Given the description of an element on the screen output the (x, y) to click on. 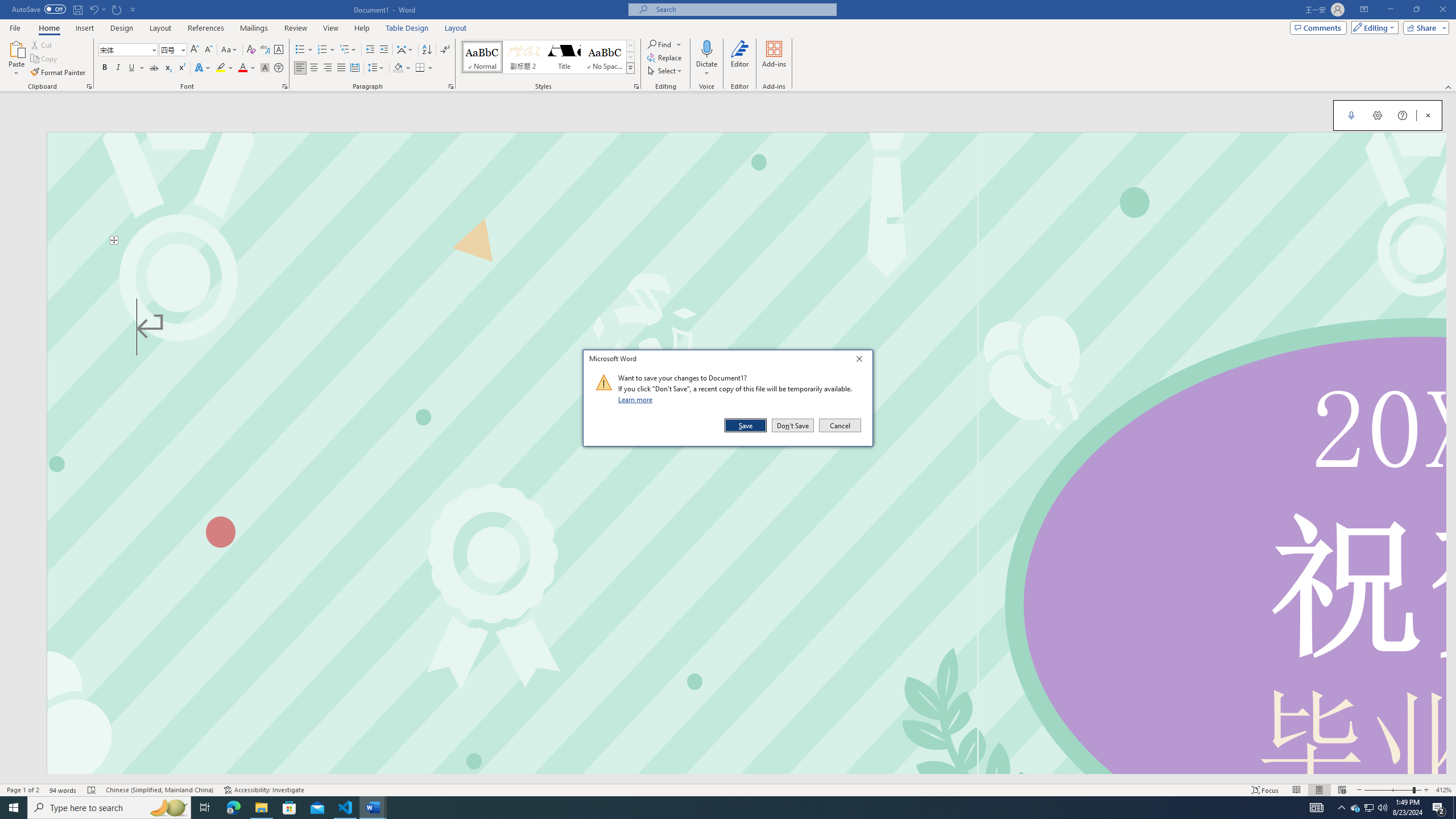
Start Dictation (1350, 115)
Undo Text Fill Effect (92, 9)
Learn more (636, 399)
